Given the description of an element on the screen output the (x, y) to click on. 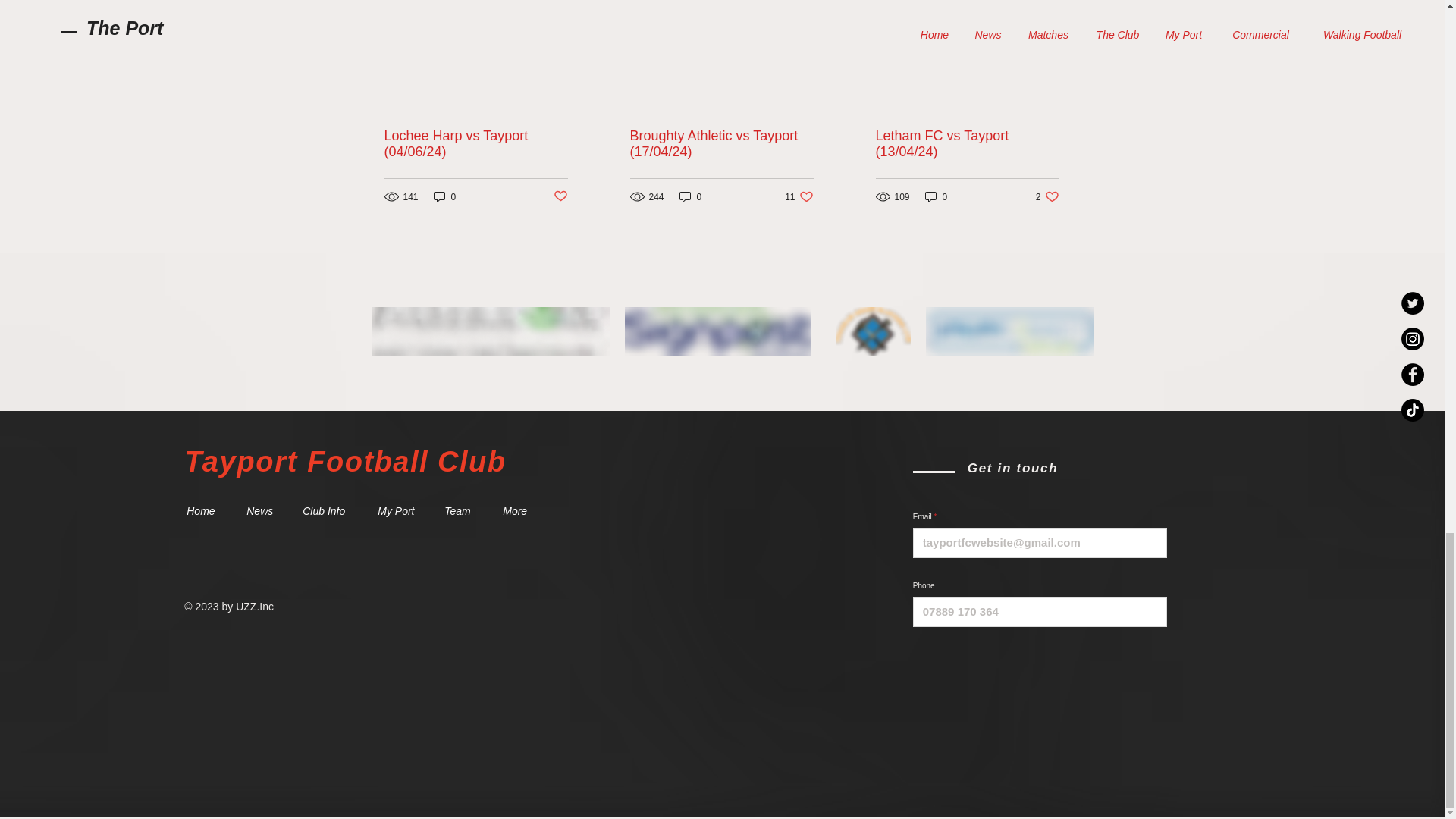
0 (445, 196)
0 (798, 196)
Post not marked as liked (690, 196)
